Given the description of an element on the screen output the (x, y) to click on. 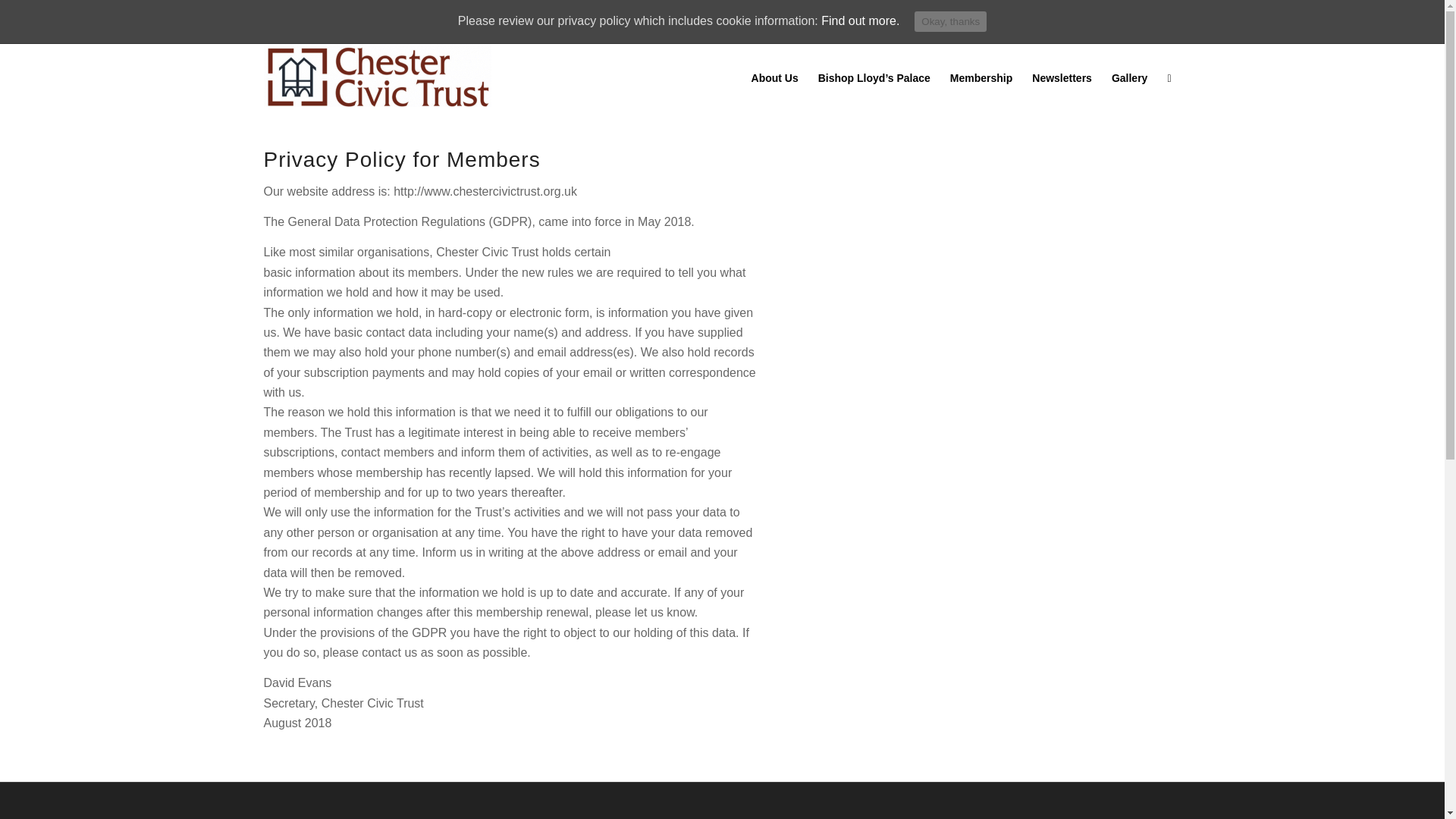
Newsletters (1062, 78)
About Us (774, 78)
Membership (981, 78)
